Given the description of an element on the screen output the (x, y) to click on. 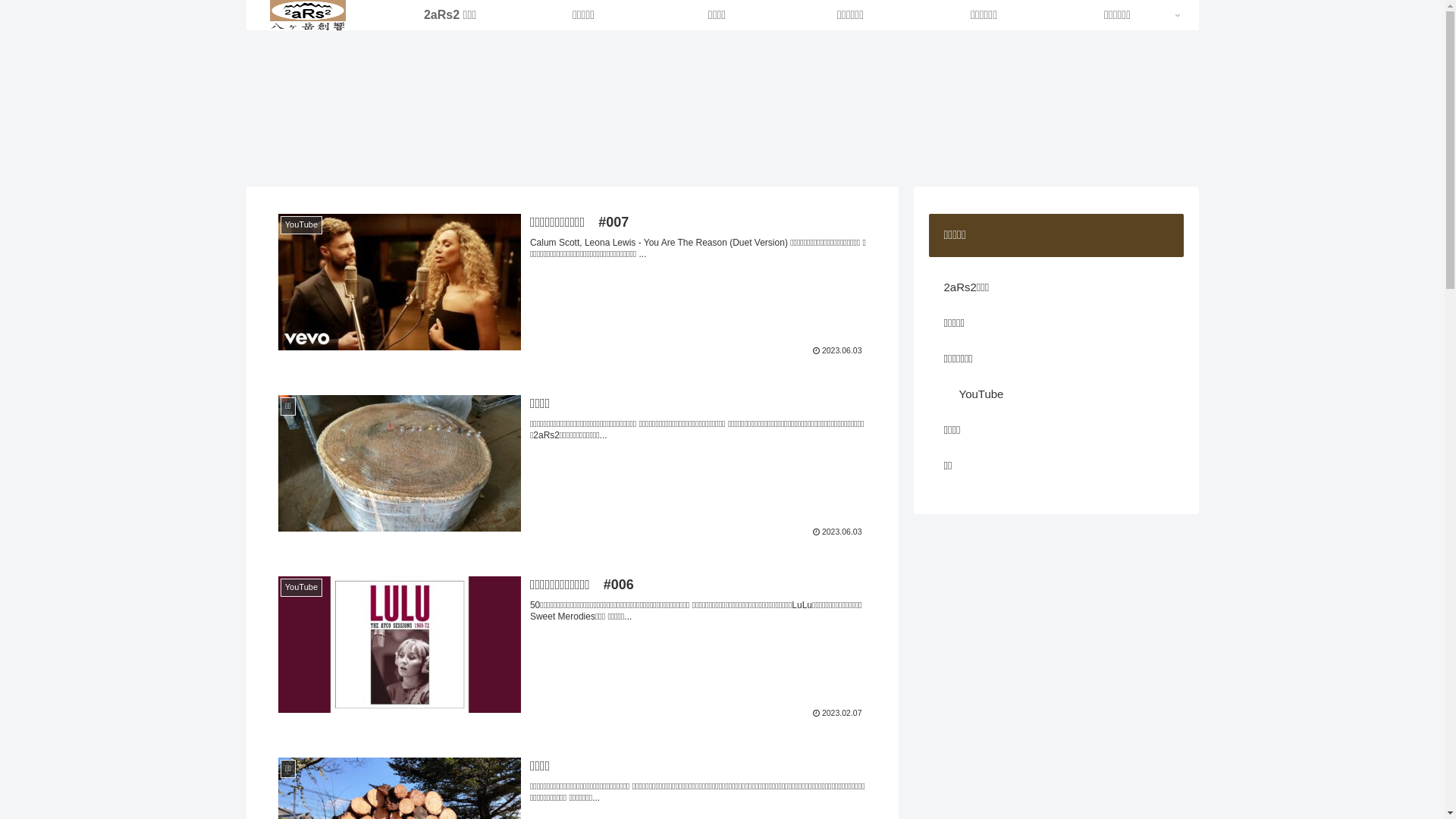
YouTube Element type: text (1063, 393)
